Given the description of an element on the screen output the (x, y) to click on. 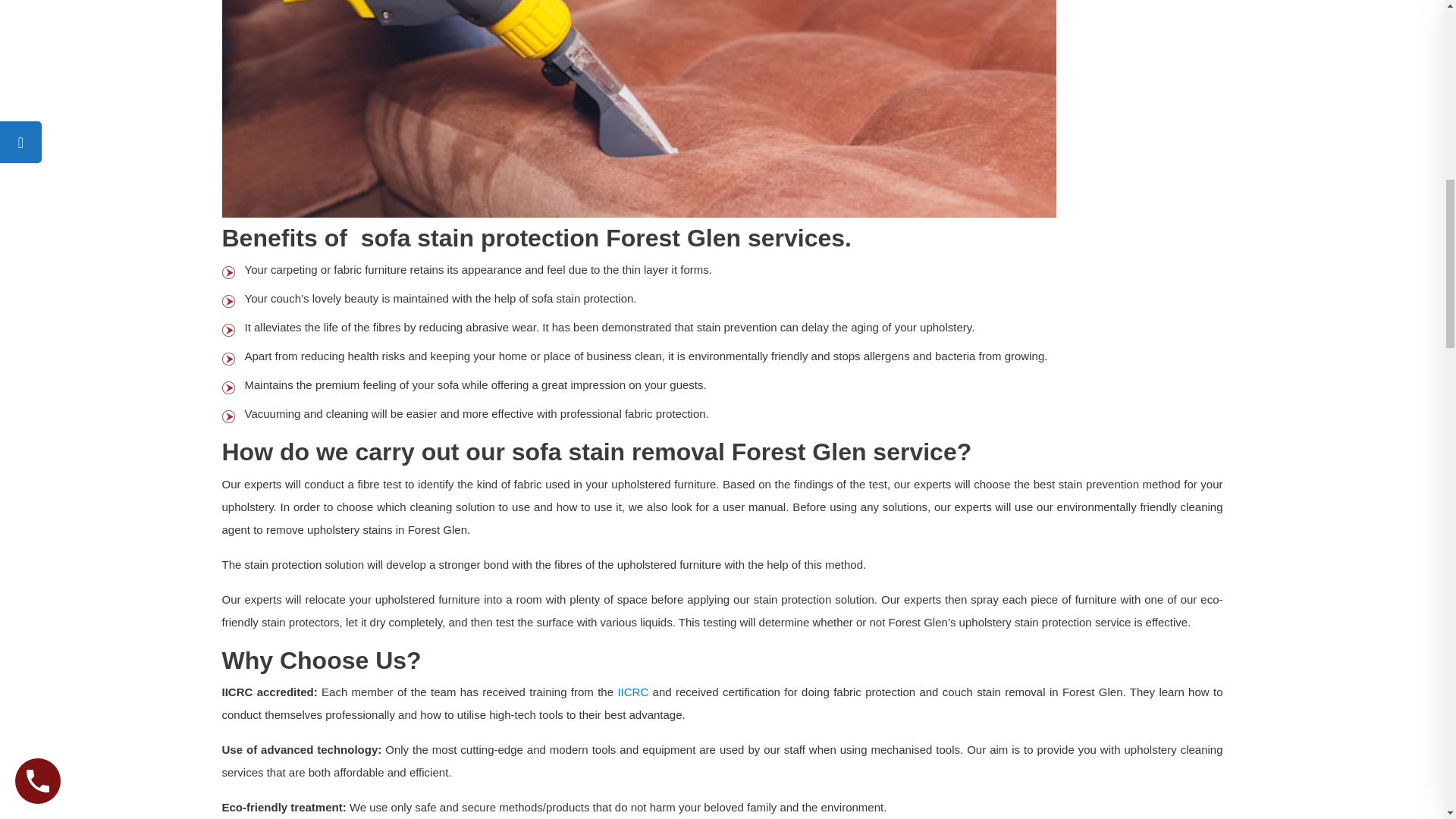
IICRC (632, 691)
